Given the description of an element on the screen output the (x, y) to click on. 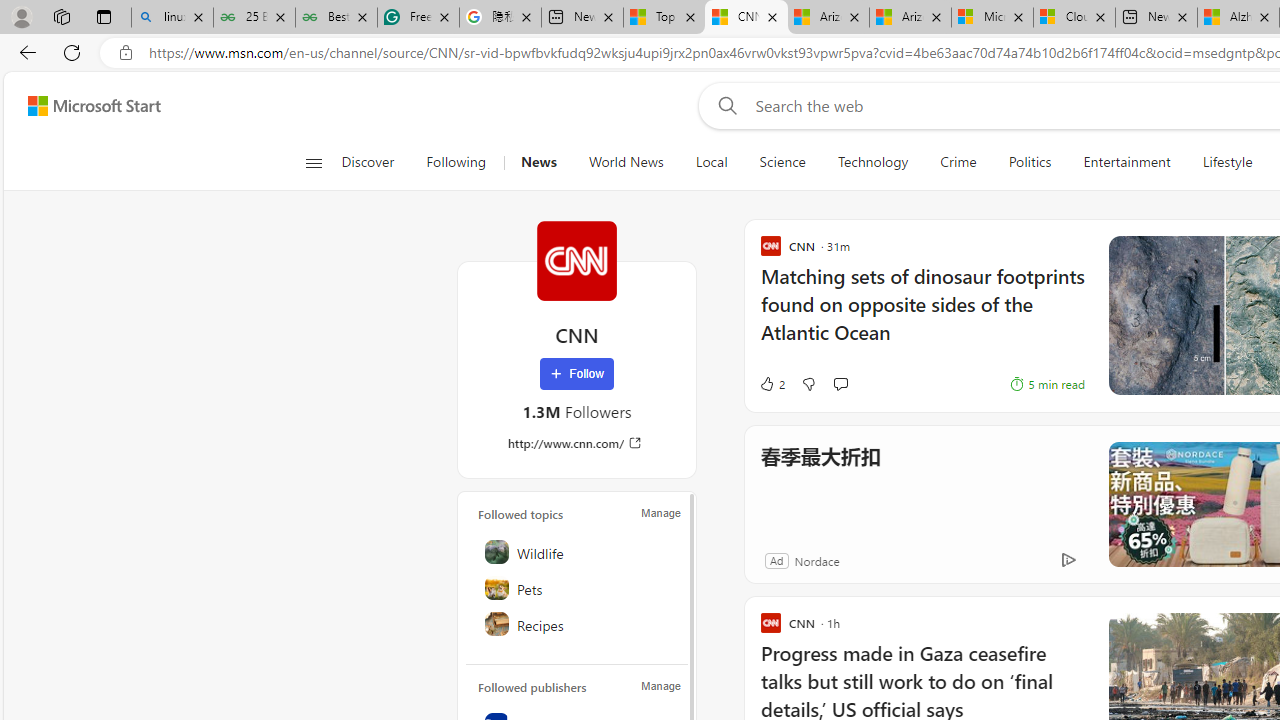
Wildlife (578, 551)
Cloud Computing Services | Microsoft Azure (1074, 17)
CNN (576, 260)
http://www.cnn.com/ (576, 443)
25 Basic Linux Commands For Beginners - GeeksforGeeks (254, 17)
Recipes (578, 623)
